Given the description of an element on the screen output the (x, y) to click on. 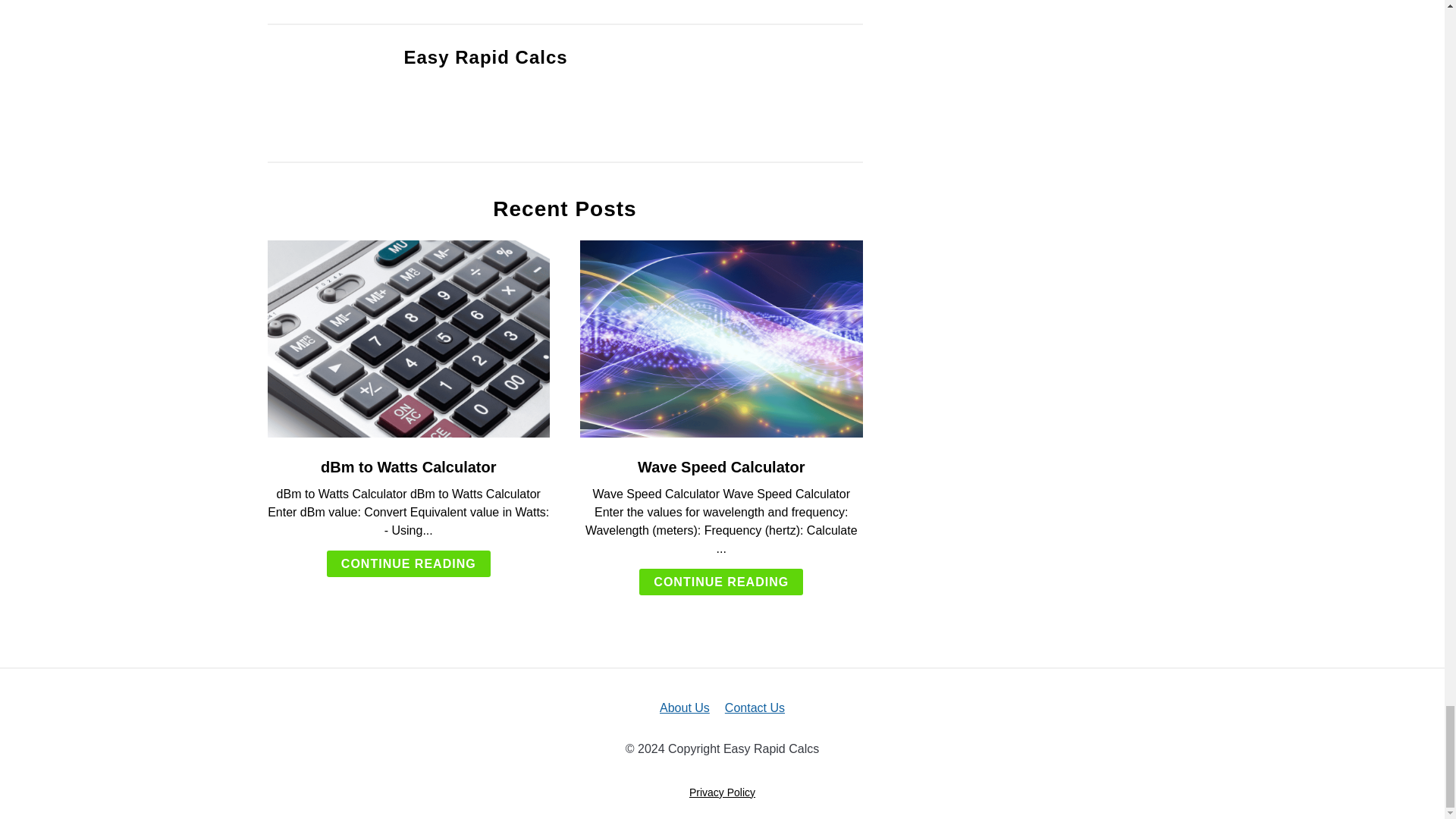
About Us (684, 707)
Easy Rapid Calcs (485, 56)
Contact Us (754, 707)
link to dBm to Watts Calculator (408, 338)
CONTINUE READING (408, 563)
Privacy Policy (721, 792)
link to Wave Speed Calculator (721, 338)
dBm to Watts Calculator (408, 466)
Wave Speed Calculator (721, 466)
CONTINUE READING (721, 581)
